Given the description of an element on the screen output the (x, y) to click on. 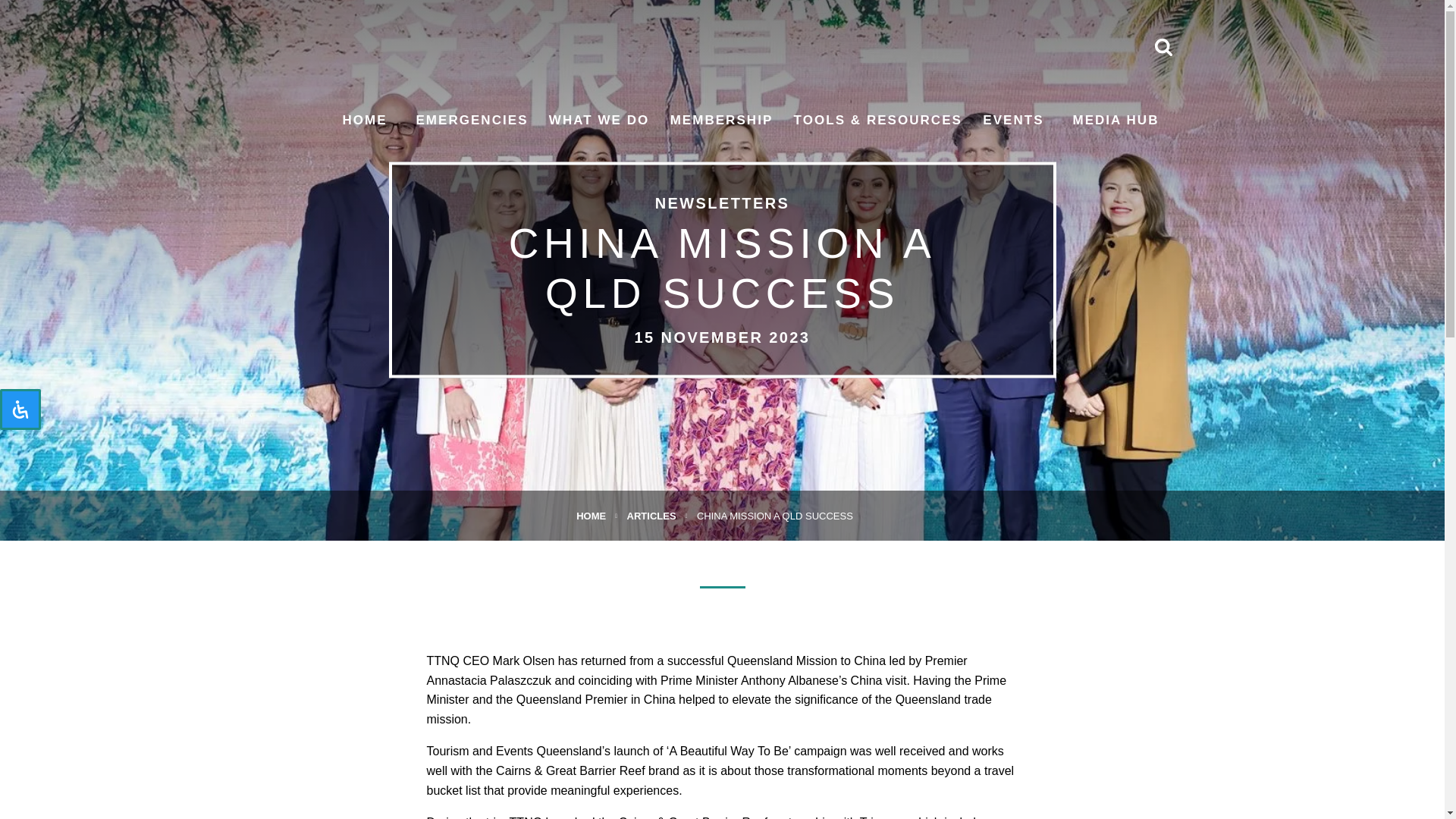
HOME (364, 120)
EVENTS (1012, 120)
EMERGENCIES (470, 120)
MEMBERSHIP (721, 120)
MEDIA HUB (1114, 120)
Accessibility (20, 409)
WHAT WE DO (598, 120)
